Given the description of an element on the screen output the (x, y) to click on. 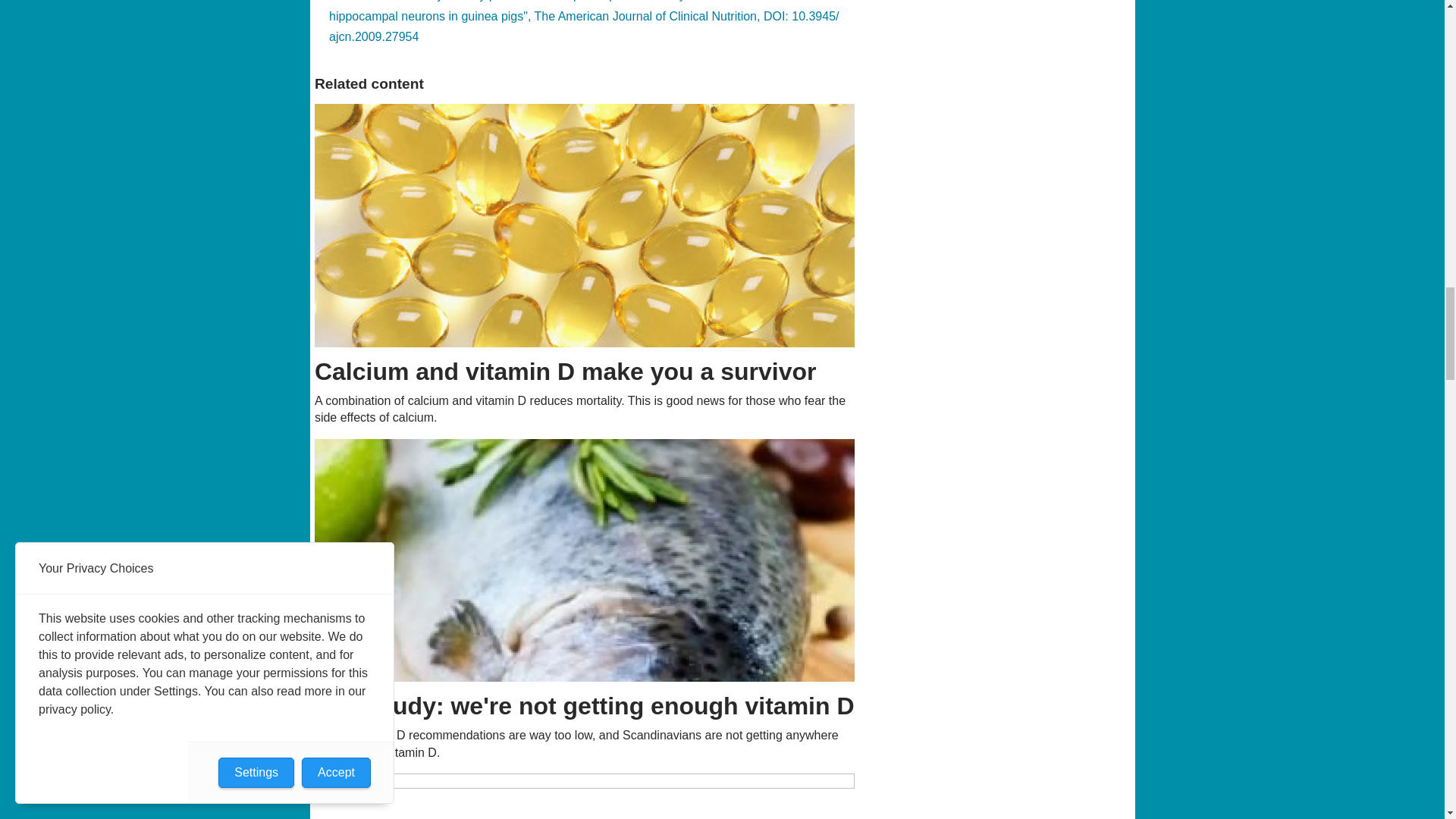
Calcium and vitamin D make you a survivor (585, 225)
New study: we're not getting enough vitamin D (585, 559)
Spawning cod packed with vitamins (585, 796)
